Given the description of an element on the screen output the (x, y) to click on. 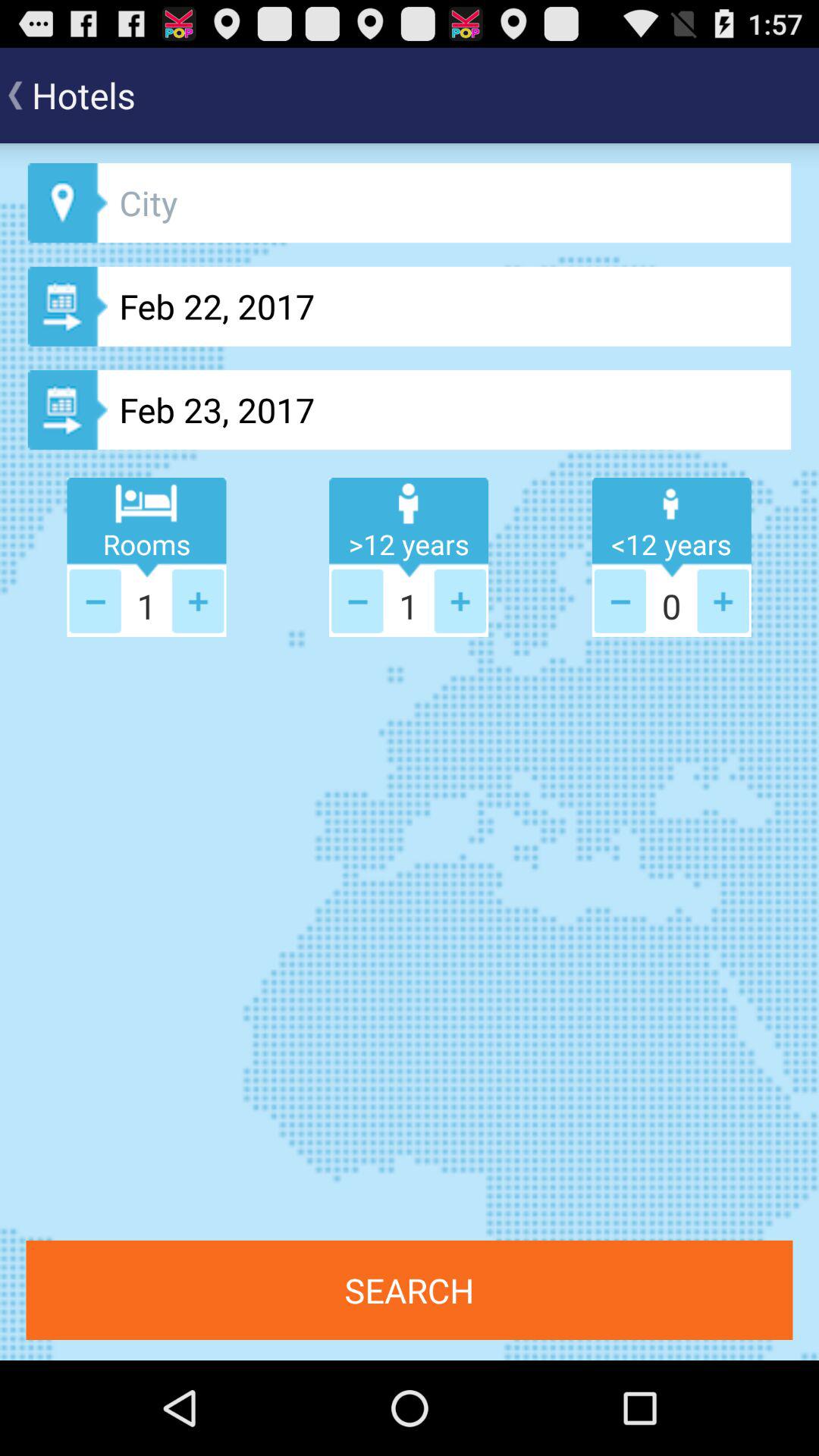
add one (723, 601)
